Given the description of an element on the screen output the (x, y) to click on. 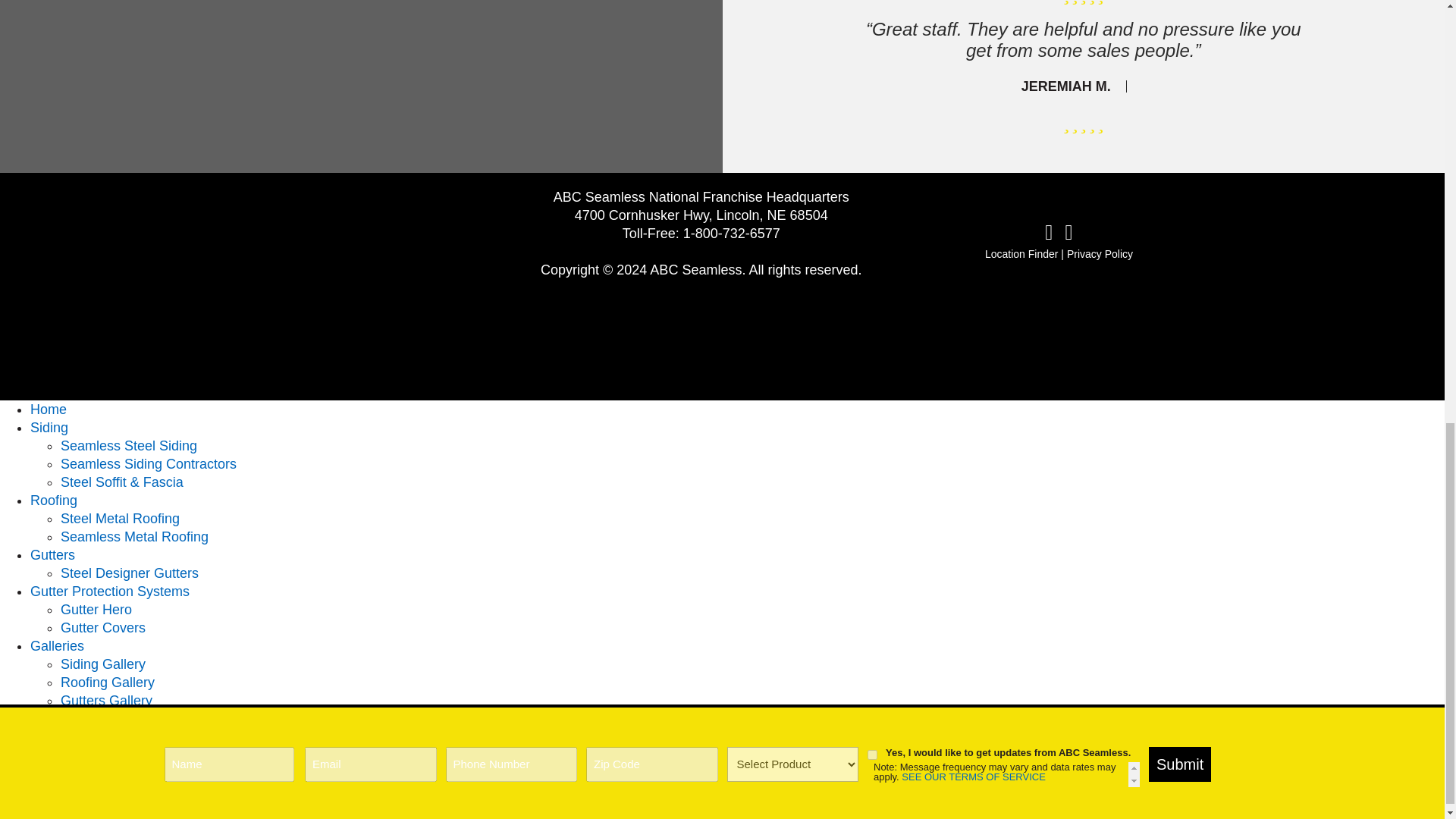
Privacy Policy (1099, 254)
VIEW OUR GALLERIES (361, 86)
Home (48, 409)
Location Finder (1021, 254)
